Given the description of an element on the screen output the (x, y) to click on. 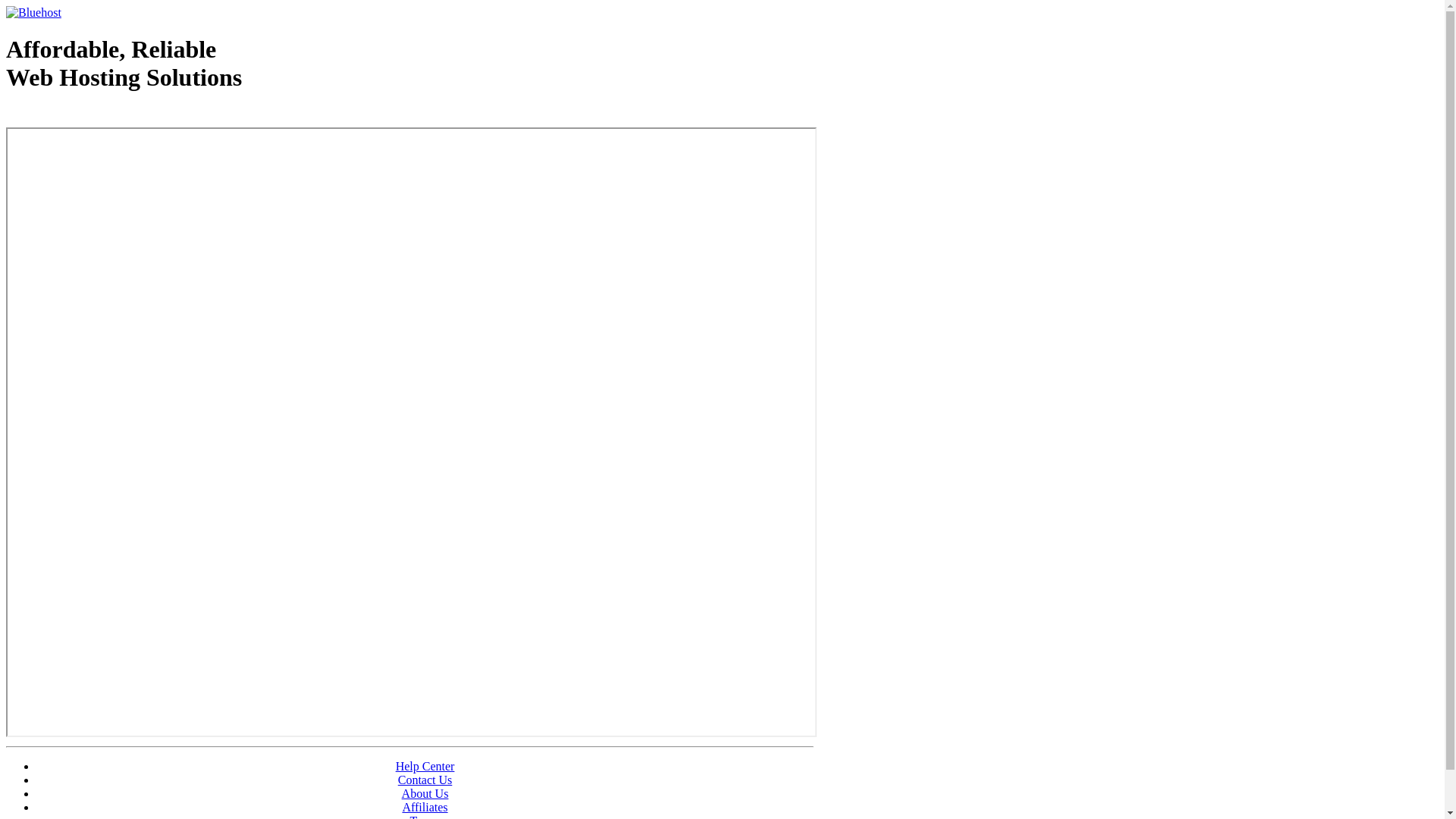
Web Hosting - courtesy of www.bluehost.com Element type: text (94, 115)
Help Center Element type: text (425, 765)
Contact Us Element type: text (425, 779)
About Us Element type: text (424, 793)
Affiliates Element type: text (424, 806)
